Given the description of an element on the screen output the (x, y) to click on. 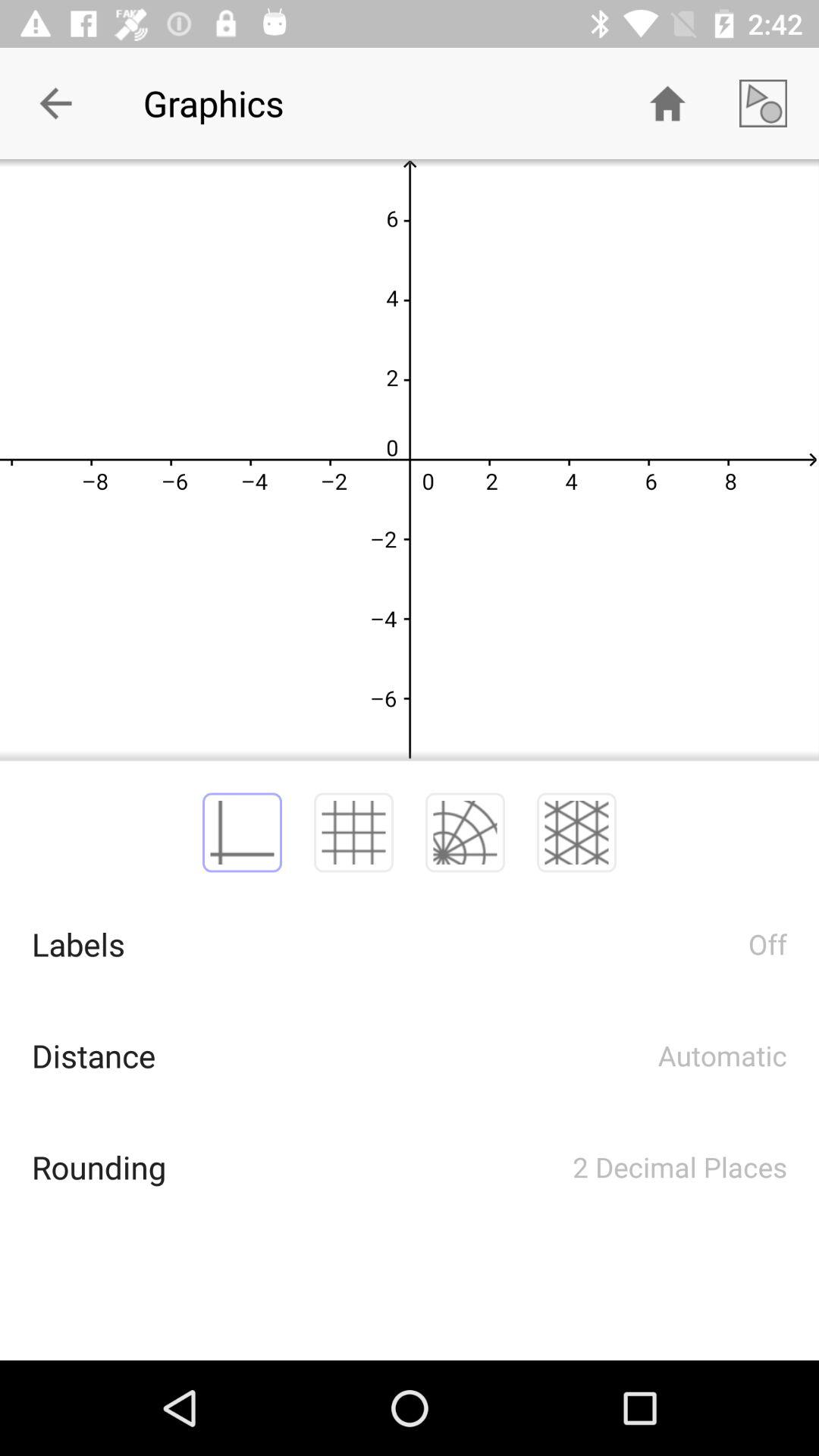
select the item above the 2 decimal places (576, 832)
